Given the description of an element on the screen output the (x, y) to click on. 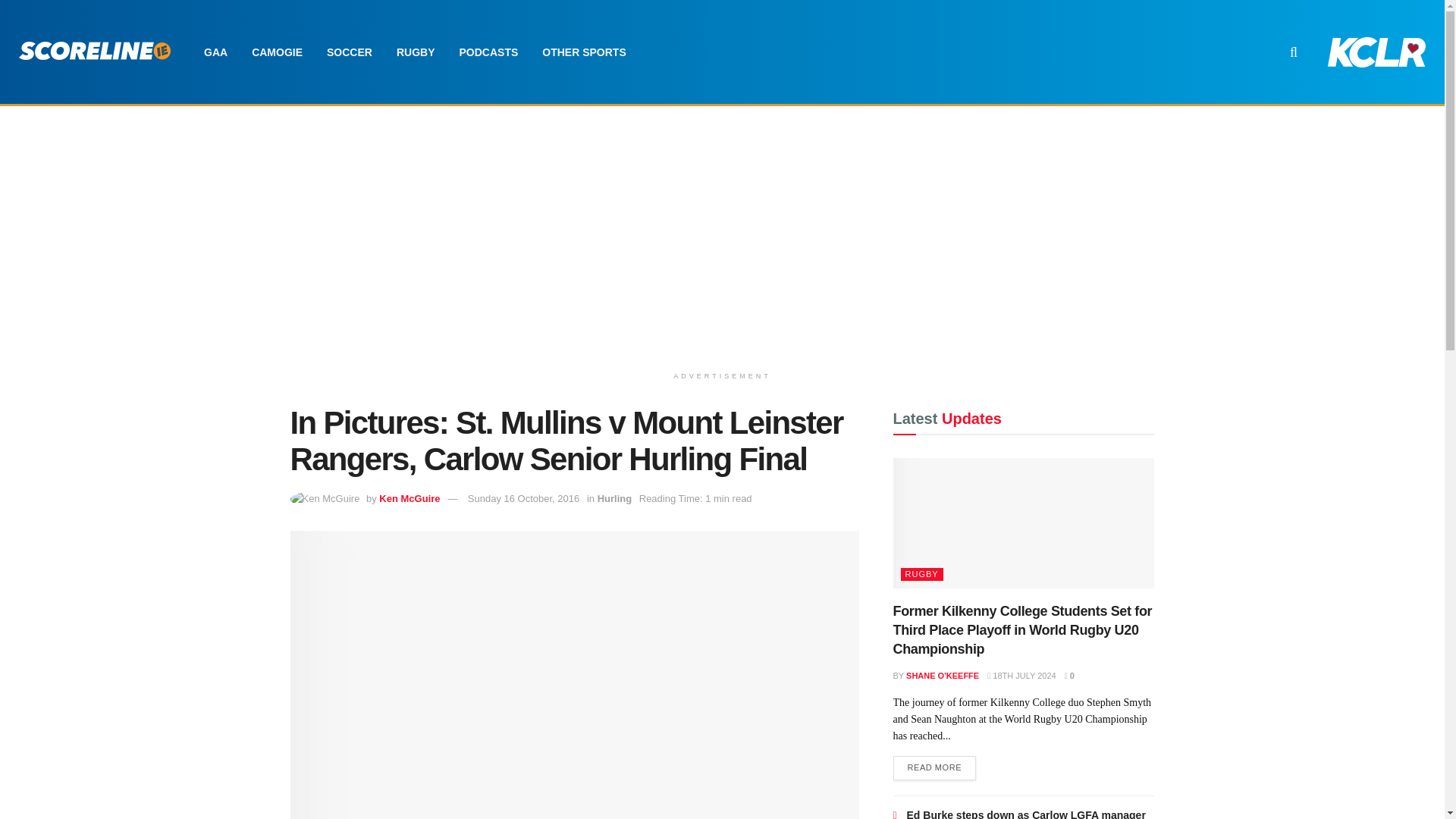
OTHER SPORTS (583, 52)
SOCCER (349, 52)
RUGBY (922, 574)
Hurling (613, 498)
SHANE O'KEEFFE (941, 675)
PODCASTS (487, 52)
Sunday 16 October, 2016 (523, 498)
RUGBY (415, 52)
0 (1069, 675)
CAMOGIE (277, 52)
GAA (216, 52)
Ken McGuire (408, 498)
18TH JULY 2024 (1021, 675)
